Given the description of an element on the screen output the (x, y) to click on. 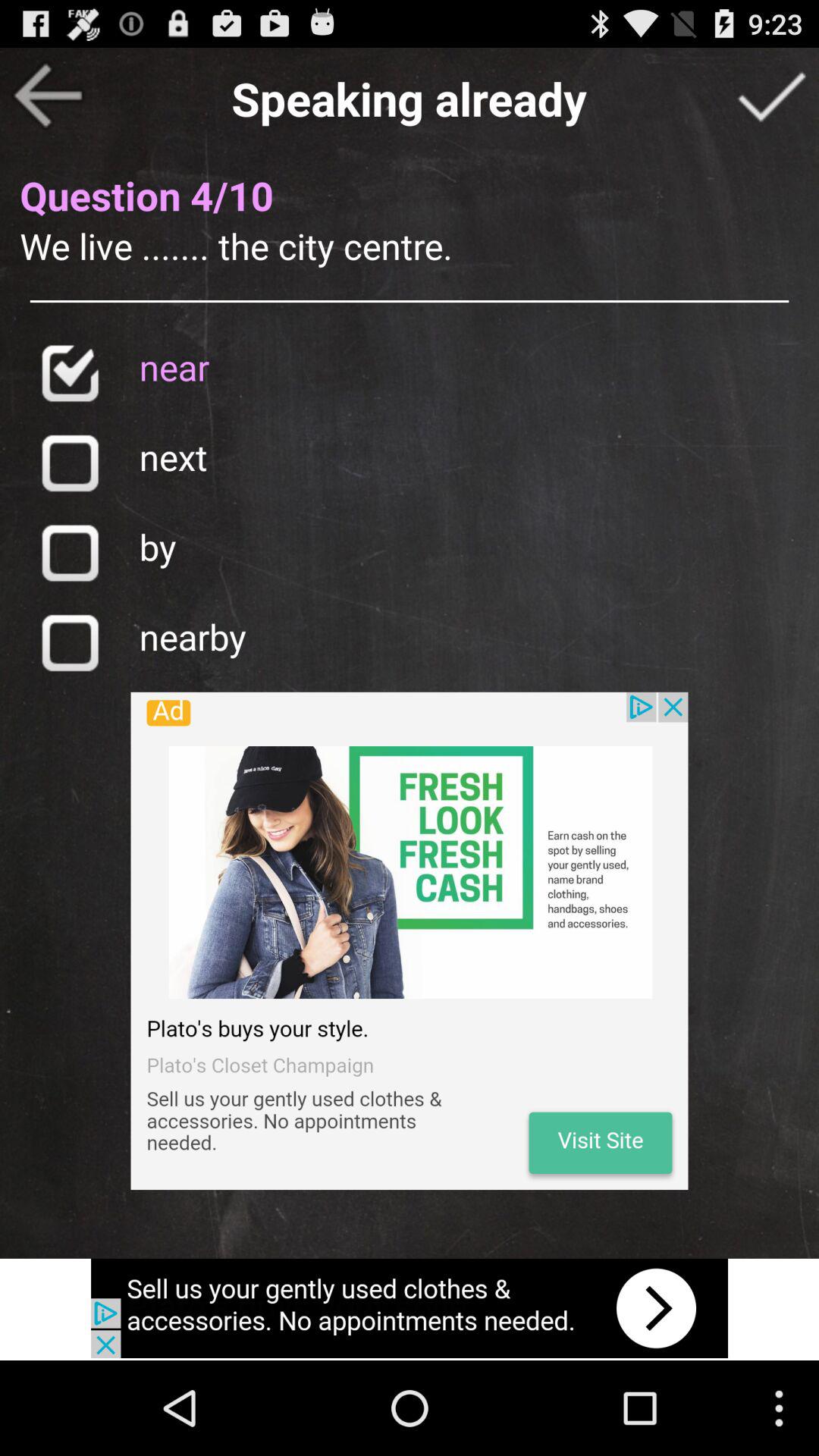
select answer (69, 552)
